Given the description of an element on the screen output the (x, y) to click on. 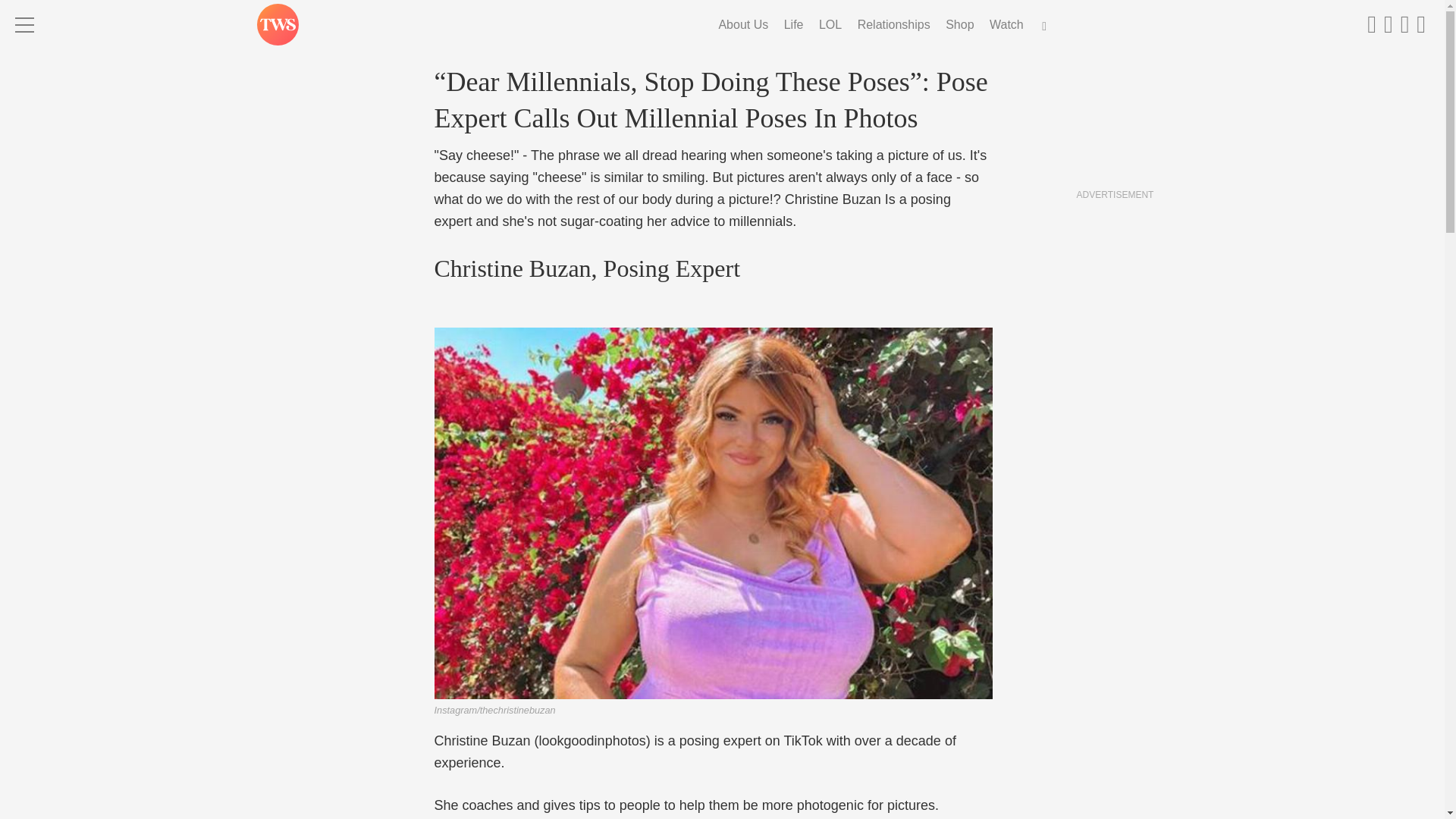
Relationships (893, 24)
Watch (1006, 24)
About Us (742, 24)
